Given the description of an element on the screen output the (x, y) to click on. 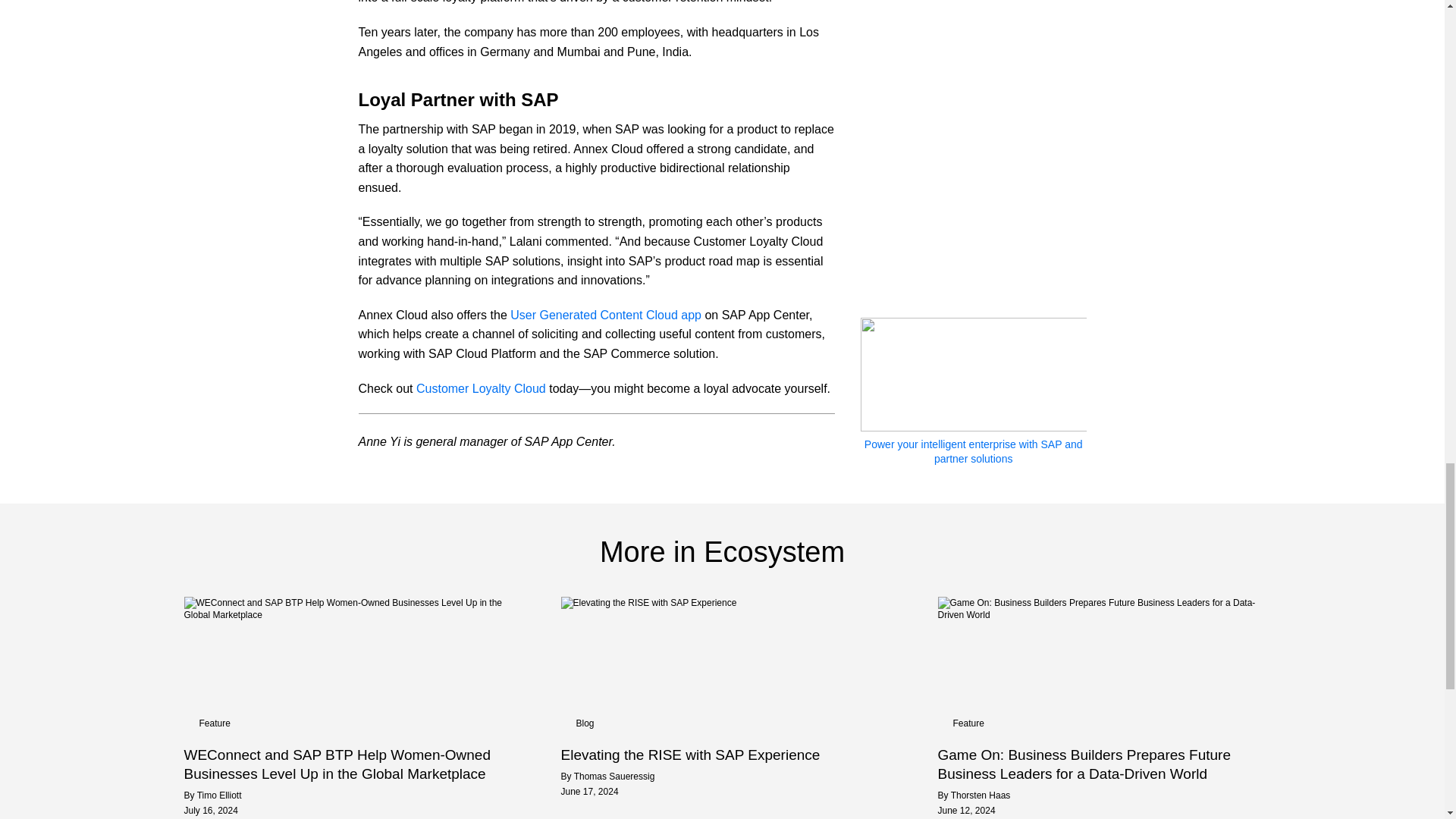
Thorsten Haas (980, 795)
Blog (585, 723)
Feature (214, 723)
Customer Loyalty Cloud (481, 388)
Posts by Thomas Saueressig (614, 776)
Timo Elliott (218, 795)
Posts by Thorsten Haas (980, 795)
Posts by Timo Elliott (218, 795)
Thomas Saueressig (614, 776)
User Generated Content Cloud app (606, 314)
Elevating the RISE with SAP Experience (721, 754)
Feature (968, 723)
